Given the description of an element on the screen output the (x, y) to click on. 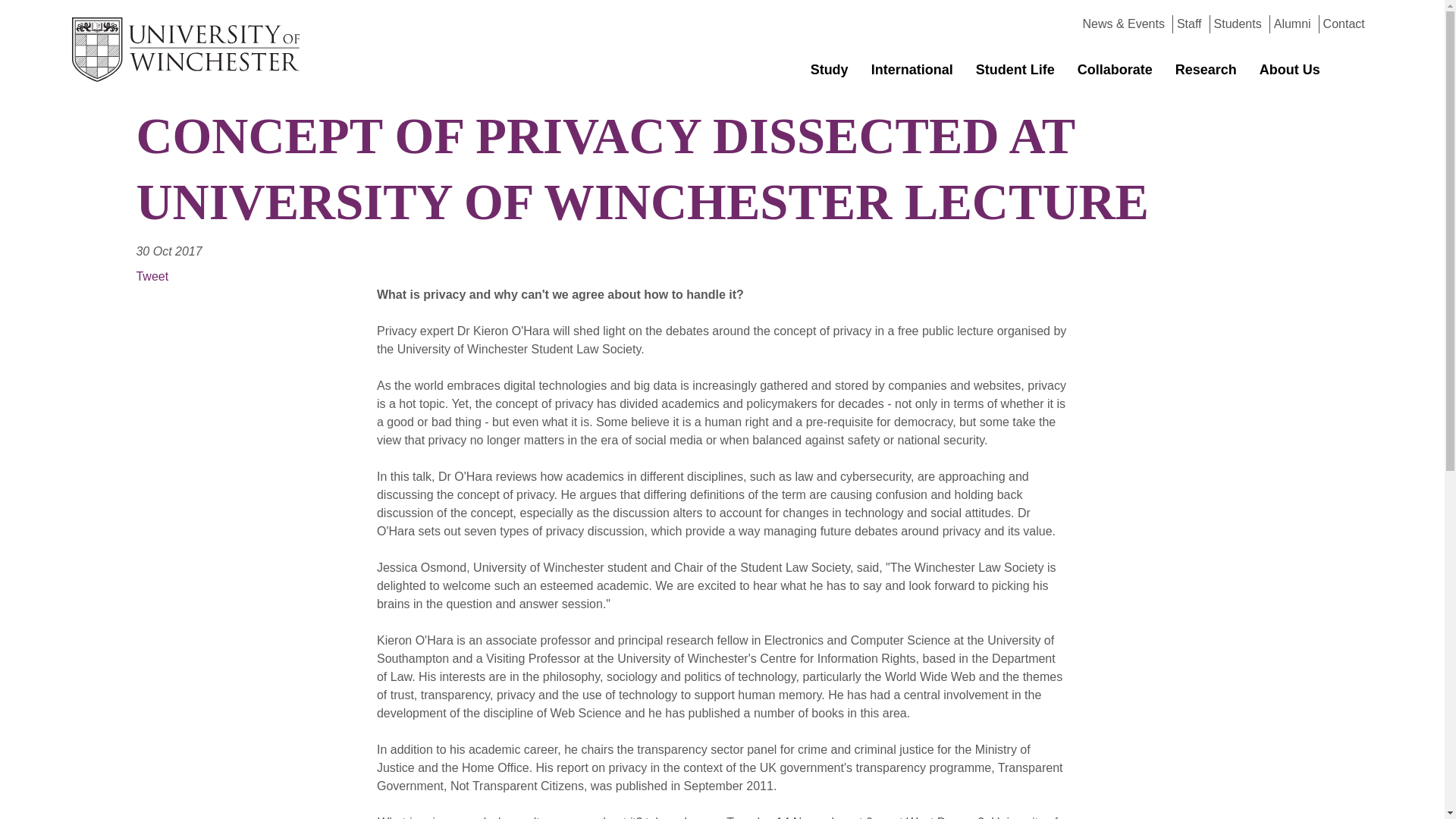
Contact (1344, 23)
Study (829, 69)
Staff (1189, 23)
International (911, 69)
Alumni (1292, 23)
Students (1238, 23)
